Given the description of an element on the screen output the (x, y) to click on. 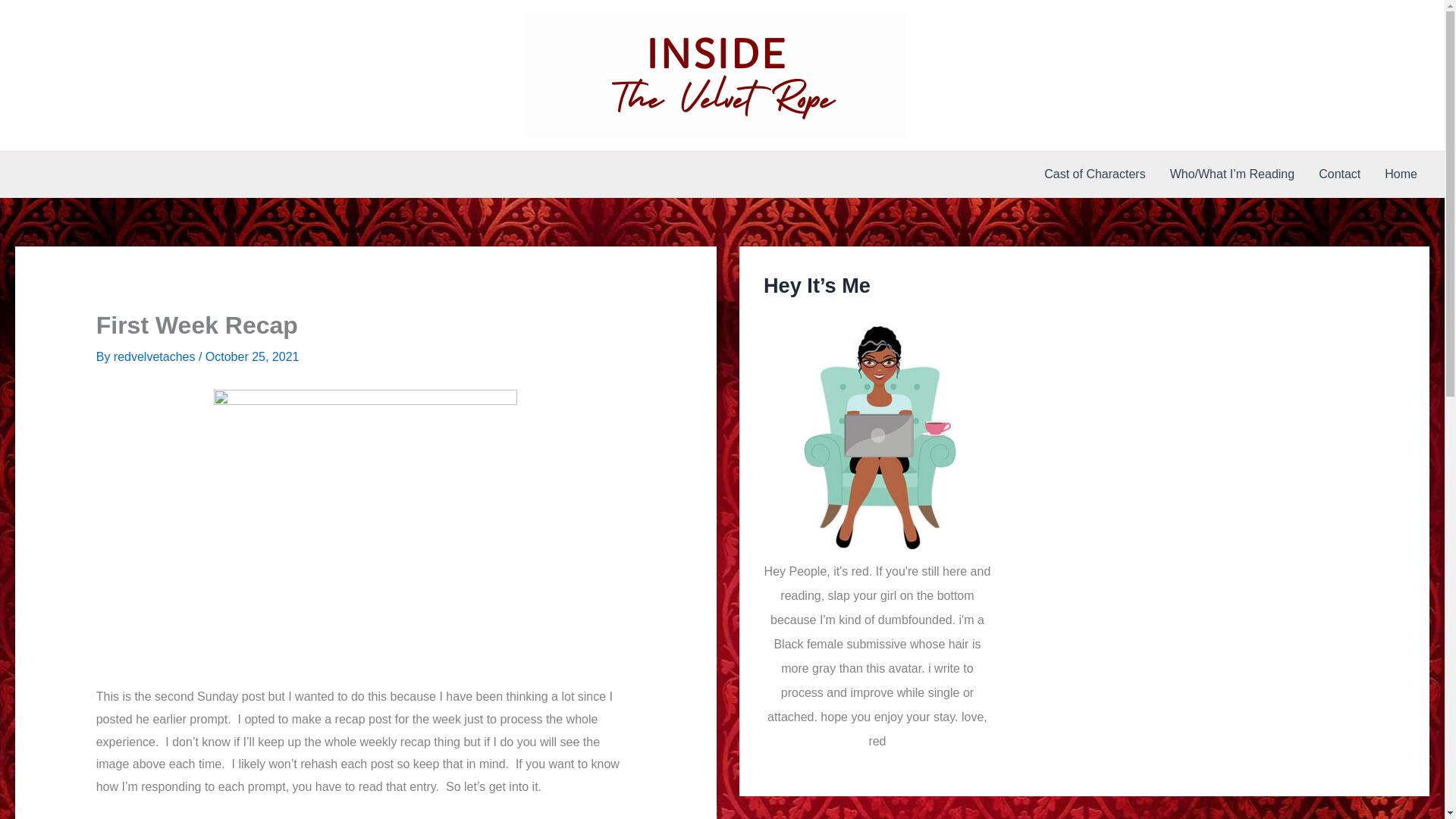
Home (1401, 174)
Hey It's Me (876, 435)
View all posts by redvelvetaches (155, 356)
Contact (1339, 174)
Cast of Characters (1094, 174)
redvelvetaches (155, 356)
